Given the description of an element on the screen output the (x, y) to click on. 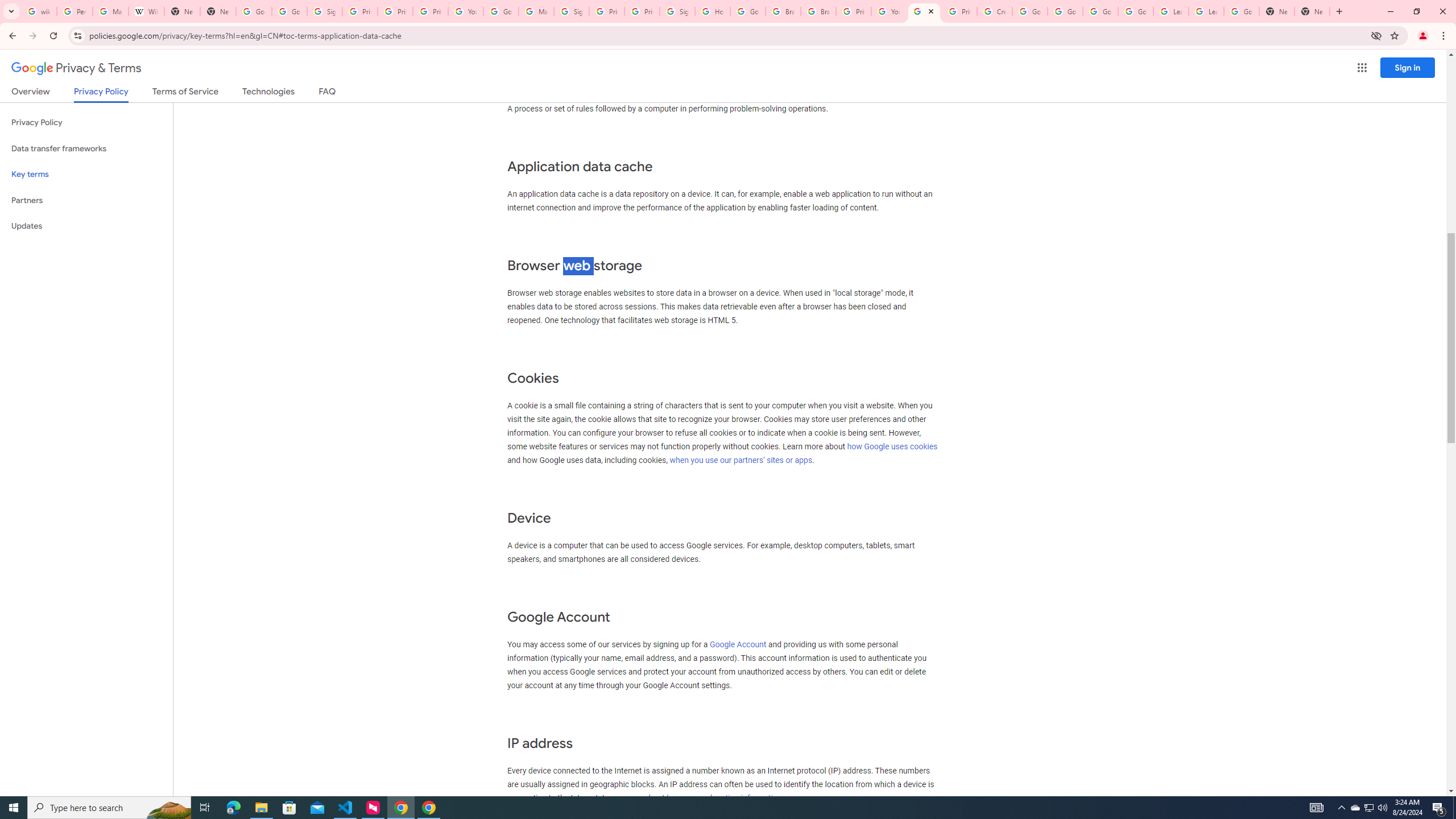
Sign in - Google Accounts (677, 11)
Google Drive: Sign-in (288, 11)
Google Account Help (1099, 11)
Brand Resource Center (783, 11)
